Given the description of an element on the screen output the (x, y) to click on. 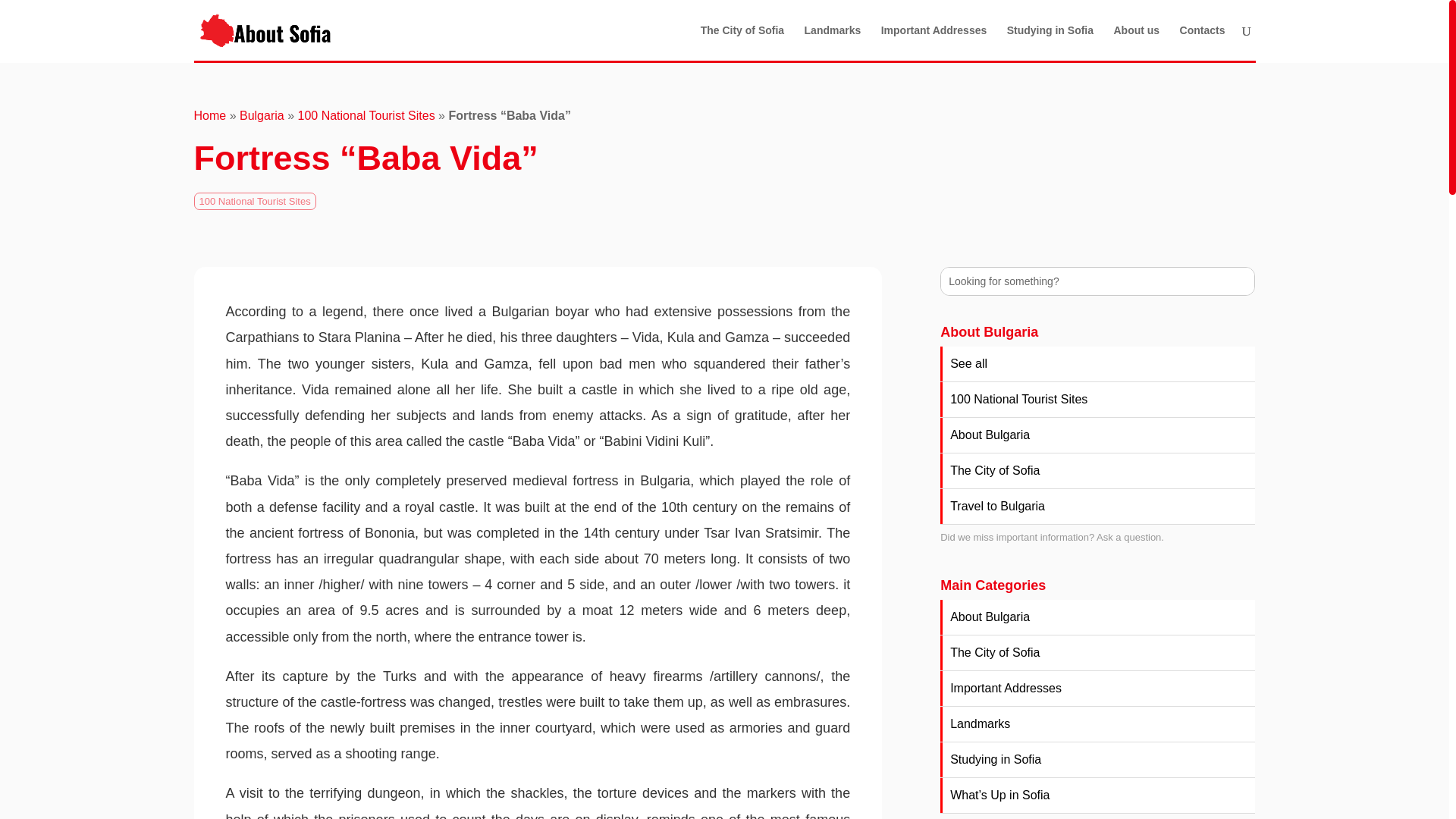
About us (1135, 42)
See all (1097, 363)
Search (24, 13)
Studying in Sofia (1050, 42)
Landmarks (833, 42)
100 National Tourist Sites (365, 115)
Home (210, 115)
Travel to Bulgaria (1097, 506)
About Bulgaria (1097, 434)
The City of Sofia (1097, 470)
The City of Sofia (1097, 652)
100 National Tourist Sites (254, 200)
Bulgaria (261, 115)
About Bulgaria (1097, 616)
Landmarks (1097, 724)
